Given the description of an element on the screen output the (x, y) to click on. 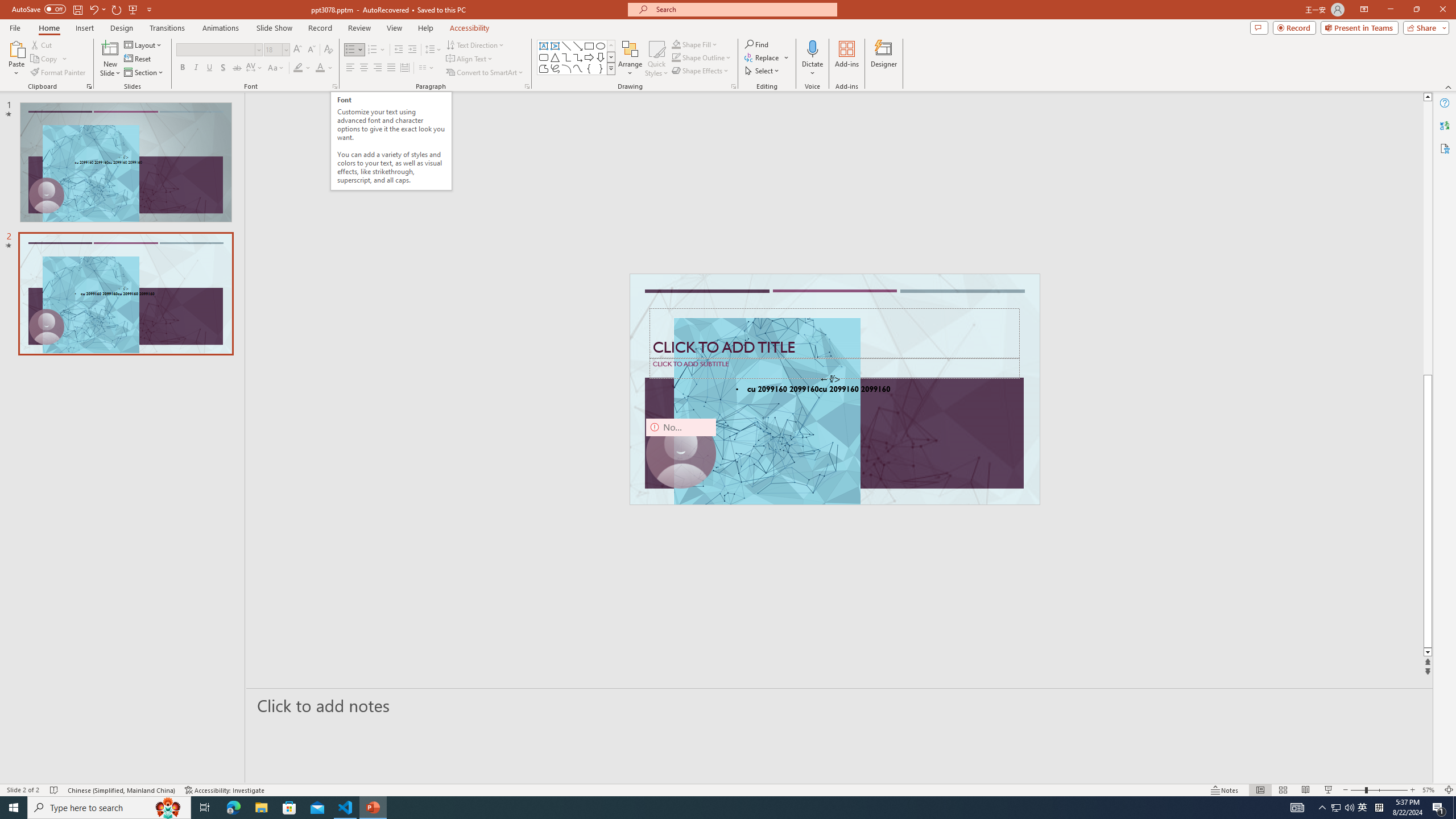
Quick Access Toolbar (82, 9)
